Given the description of an element on the screen output the (x, y) to click on. 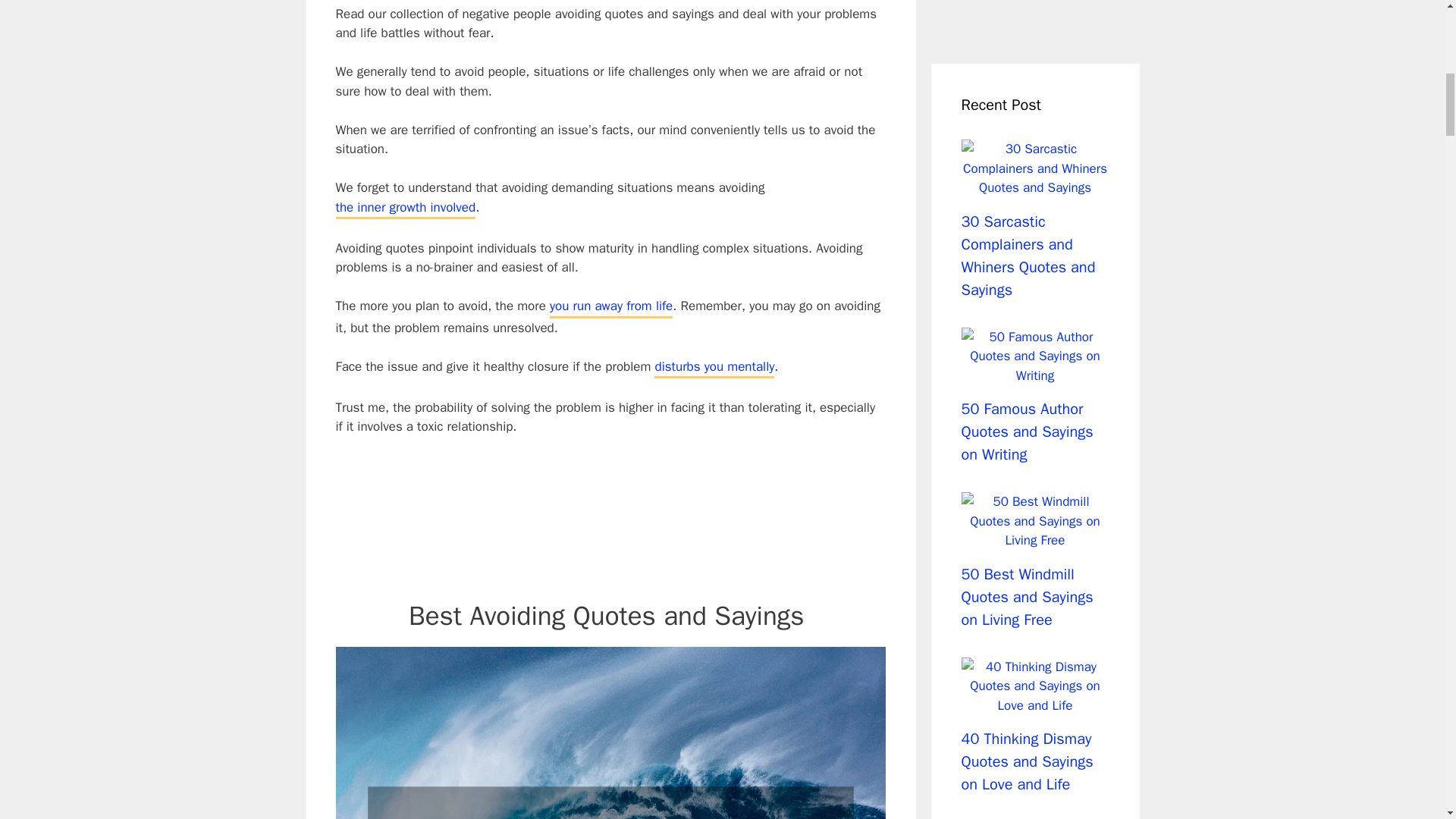
you run away from life (611, 307)
Avoiding Quotes Greeting Ideas 1 (609, 733)
the inner growth involved (405, 209)
disturbs you mentally (713, 368)
